Given the description of an element on the screen output the (x, y) to click on. 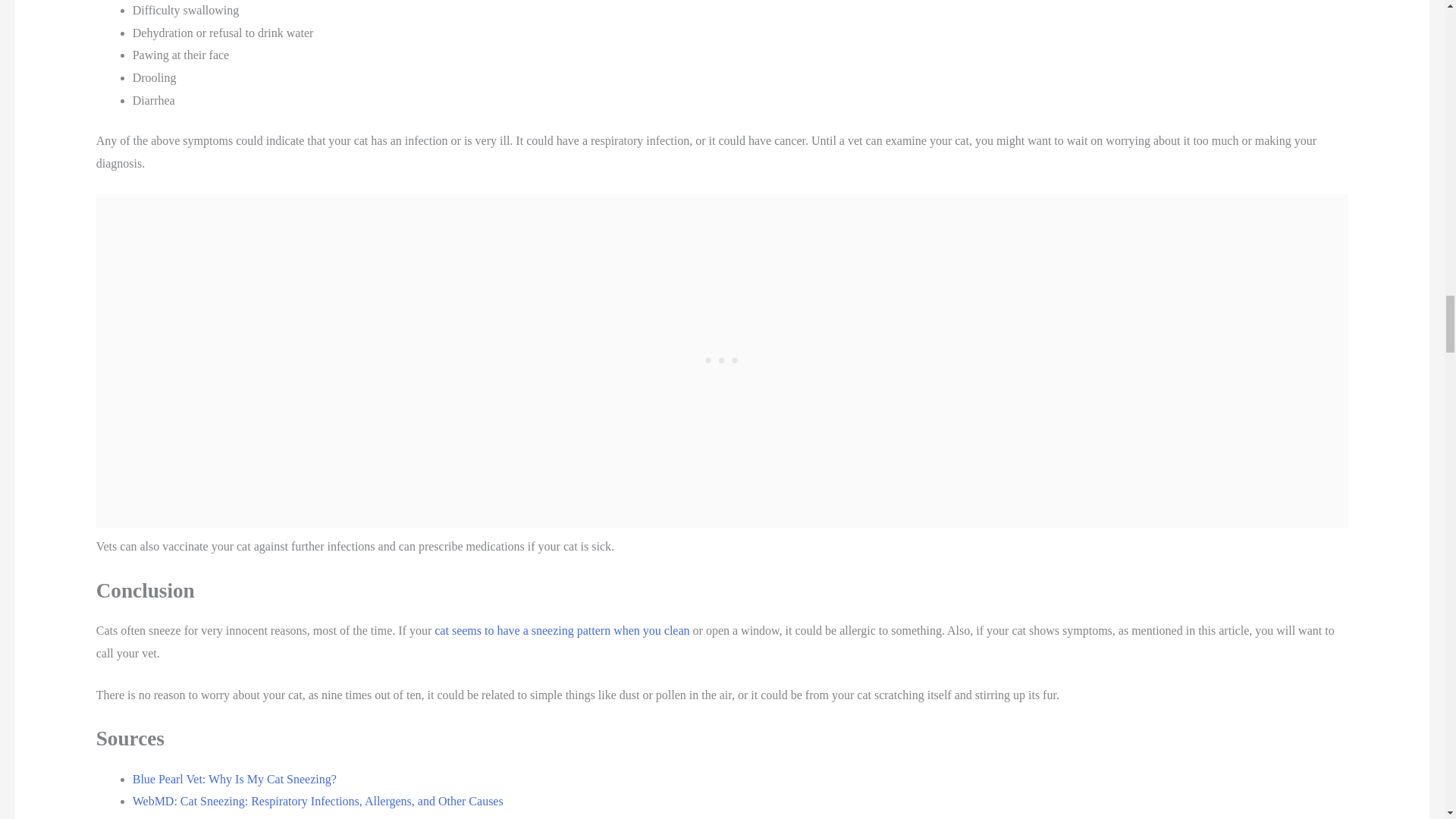
Blue Pearl Vet: Why Is My Cat Sneezing? (234, 779)
cat seems to have a sneezing pattern when you clean (560, 630)
